Given the description of an element on the screen output the (x, y) to click on. 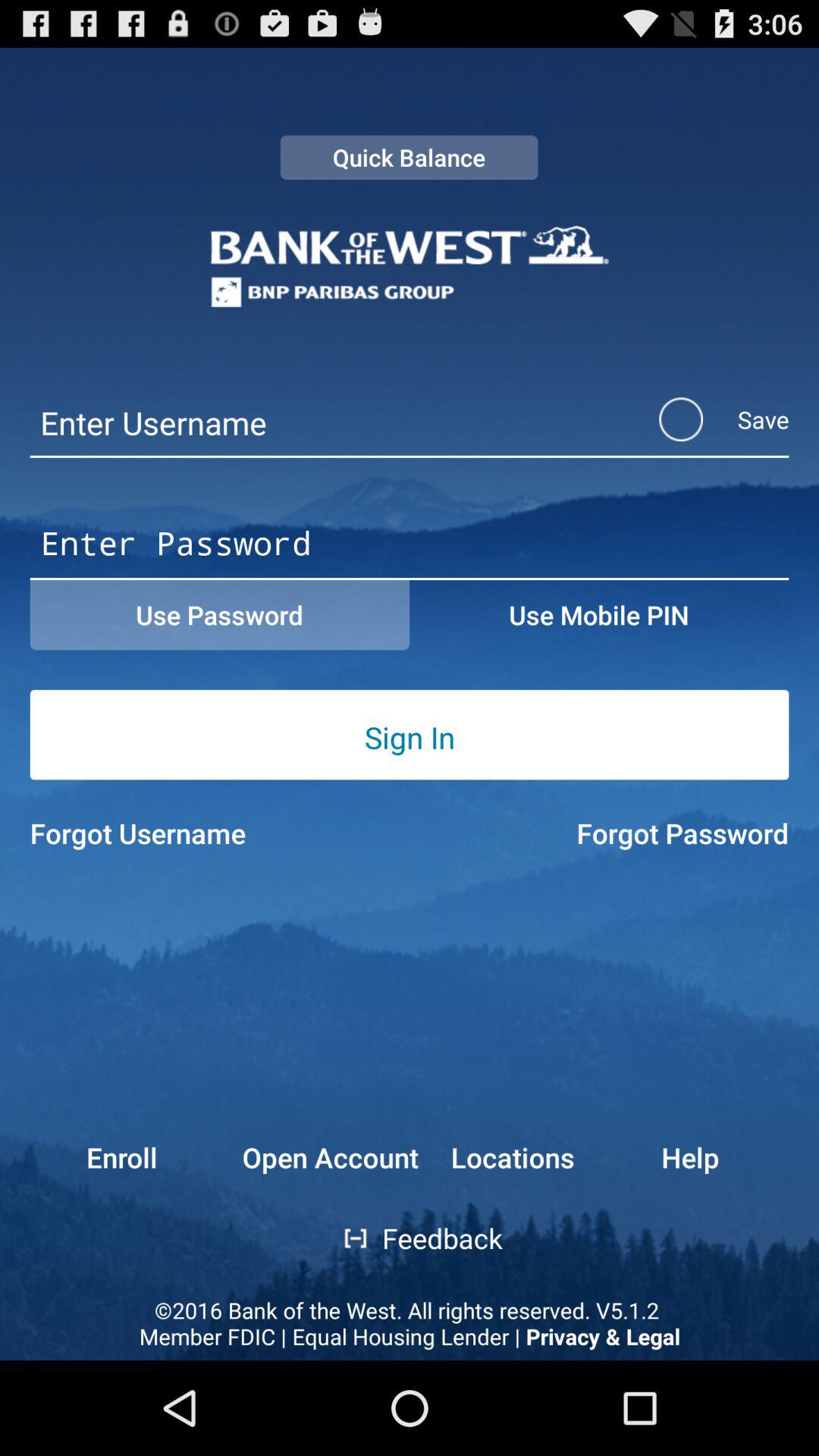
turn off item above the 2016 bank of icon (93, 1157)
